Given the description of an element on the screen output the (x, y) to click on. 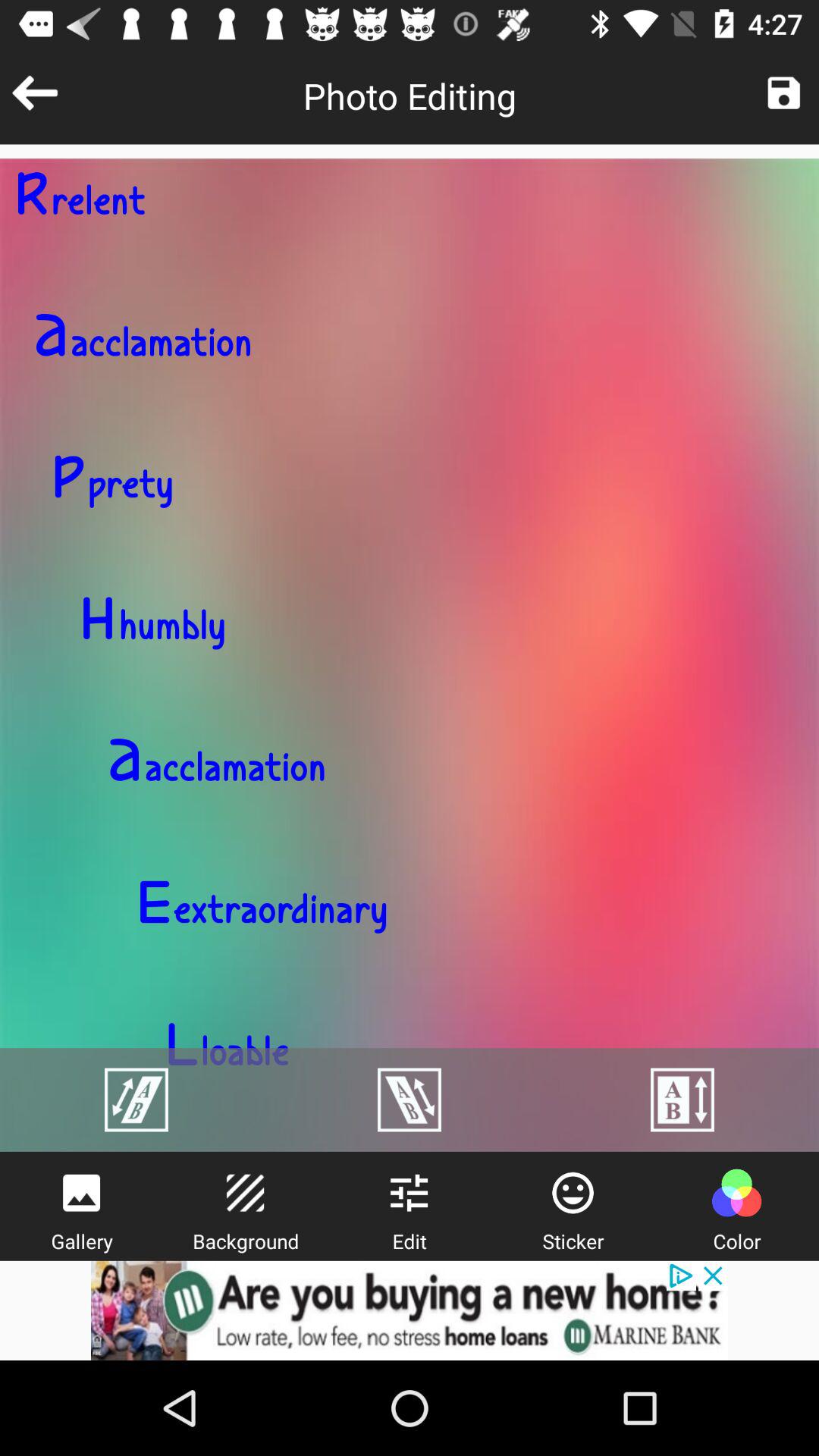
save photo edit (784, 92)
